Given the description of an element on the screen output the (x, y) to click on. 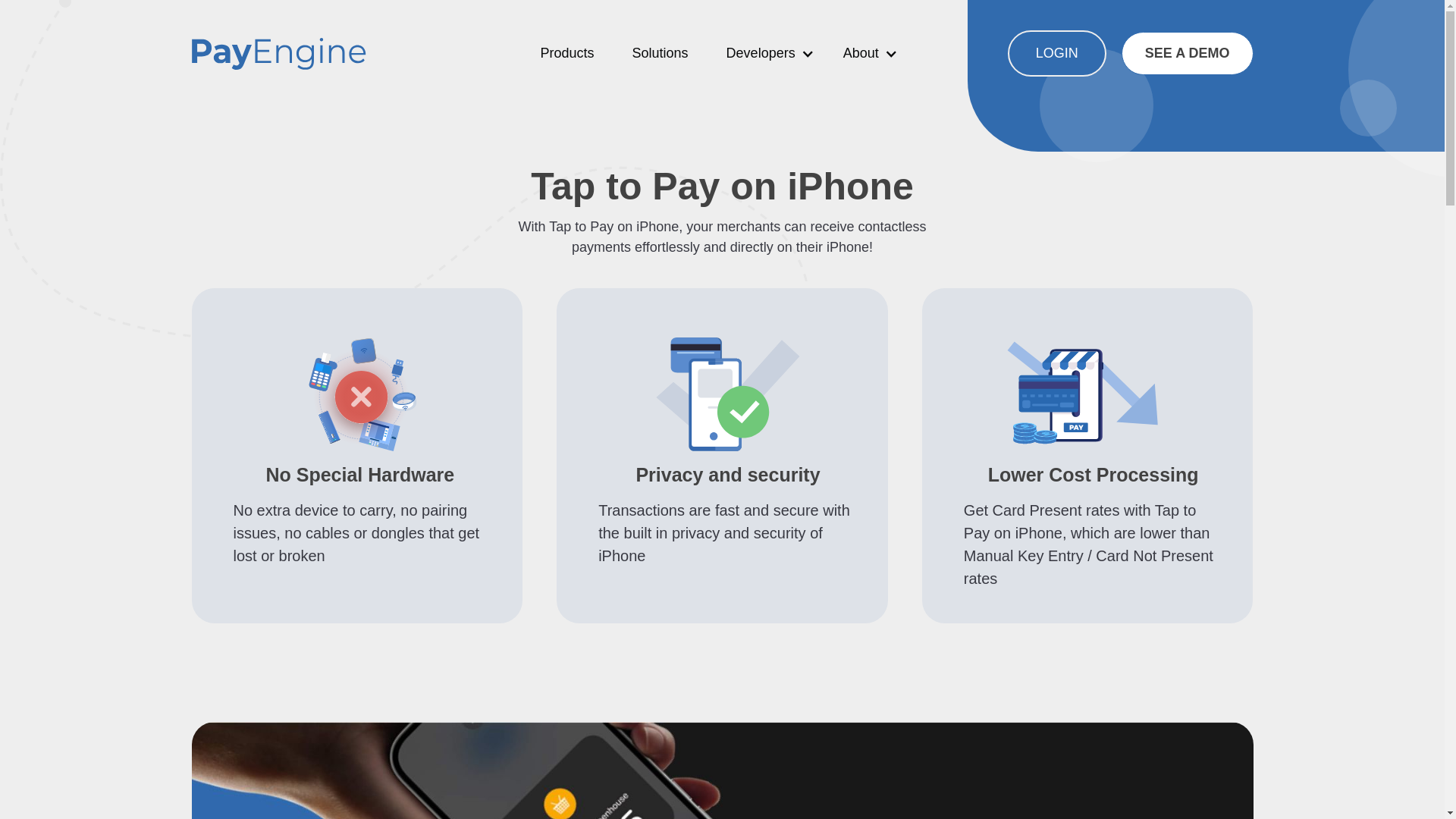
SEE A DEMO (1187, 53)
Solutions (660, 53)
LOGIN (1056, 53)
Products (566, 53)
